Given the description of an element on the screen output the (x, y) to click on. 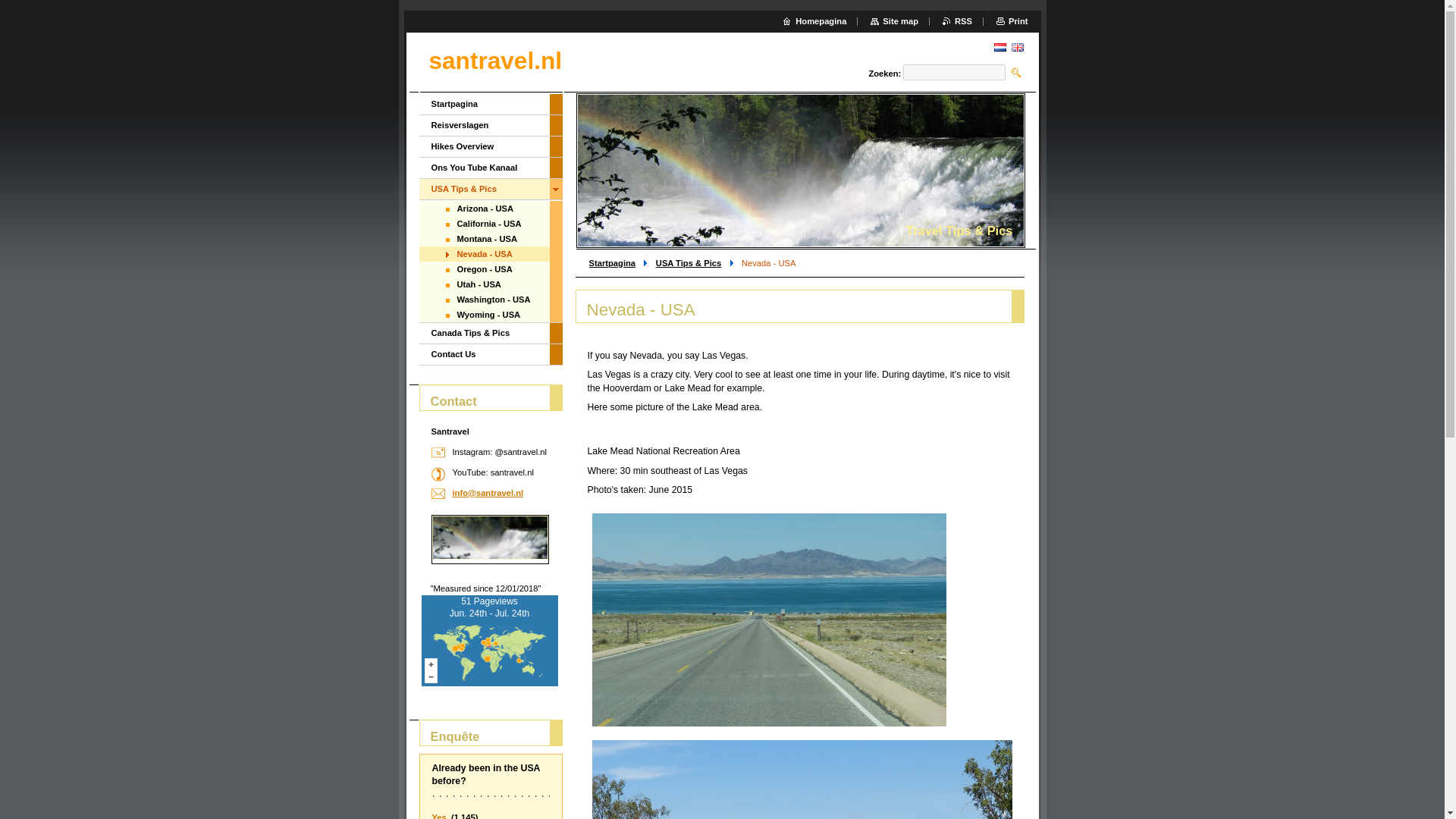
Oregon - USA (483, 268)
Utah - USA (483, 283)
California - USA (483, 223)
Nederlands (999, 46)
Montana - USA (483, 238)
Hikes Overview (483, 146)
Arizona - USA (483, 208)
English (1017, 46)
santravel.nl (495, 60)
Stem op deze (439, 816)
Ga naar homepagina (495, 60)
Reisverslagen (483, 125)
Ons You Tube Kanaal (483, 168)
Yes (439, 816)
